Given the description of an element on the screen output the (x, y) to click on. 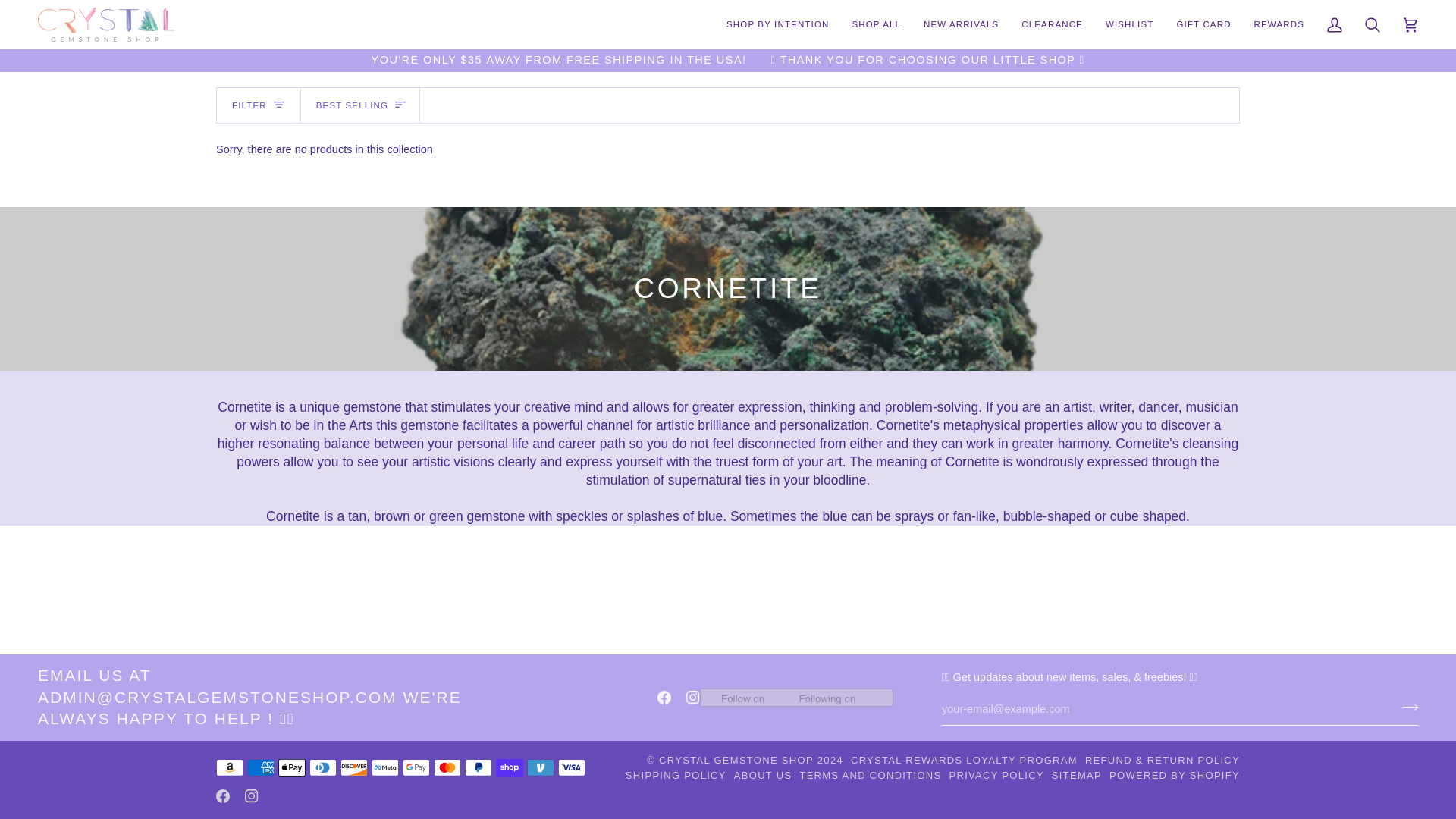
AMERICAN EXPRESS (261, 767)
SHOP PAY (509, 767)
APPLE PAY (291, 767)
META PAY (384, 767)
MASTERCARD (447, 767)
Instagram (251, 796)
Facebook (664, 697)
FILTER (258, 104)
Facebook (222, 796)
SHOP BY INTENTION (777, 24)
AMAZON (229, 767)
REWARDS (1279, 24)
GIFT CARD (1202, 24)
PAYPAL (478, 767)
SHOP ALL (876, 24)
